Given the description of an element on the screen output the (x, y) to click on. 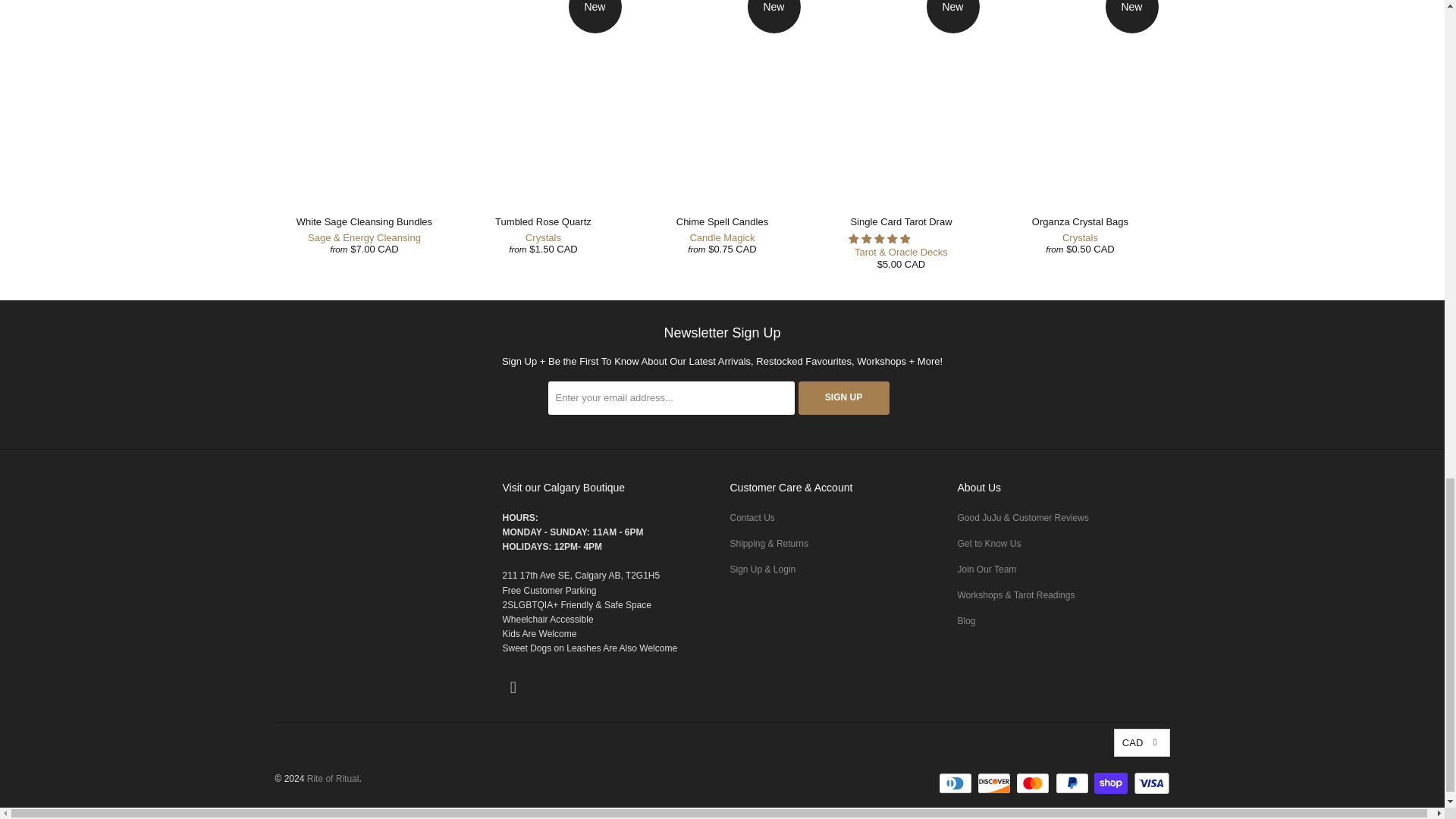
Rite of Ritual on Instagram (513, 687)
PayPal (1073, 783)
Sign Up (842, 397)
Shop Pay (1112, 783)
Mastercard (1034, 783)
Discover (994, 783)
Diners Club (957, 783)
Visa (1150, 783)
